Given the description of an element on the screen output the (x, y) to click on. 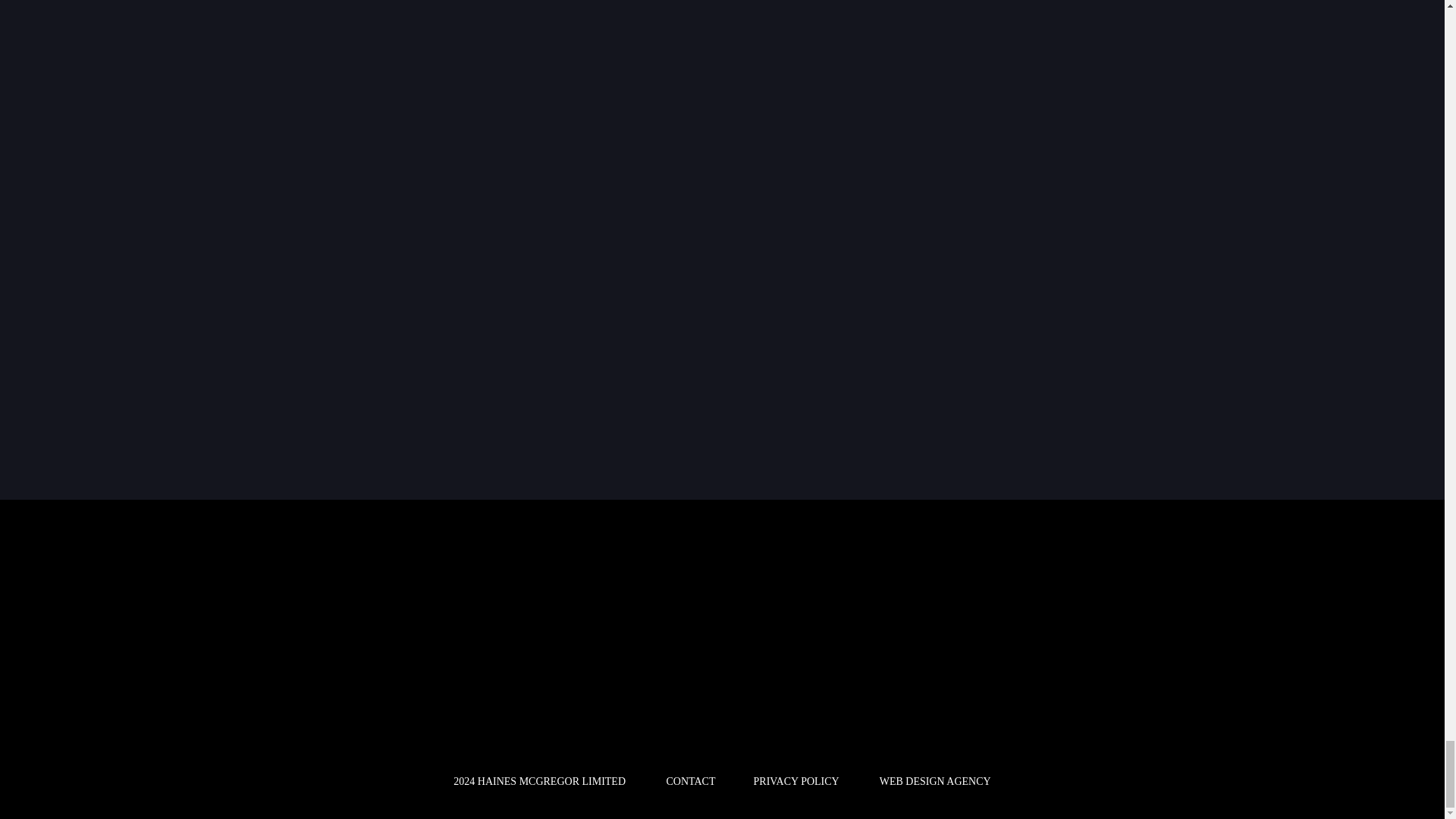
PRIVACY POLICY (797, 781)
Form 0 (962, 651)
WEB DESIGN AGENCY (935, 781)
CONTACT (691, 781)
